Given the description of an element on the screen output the (x, y) to click on. 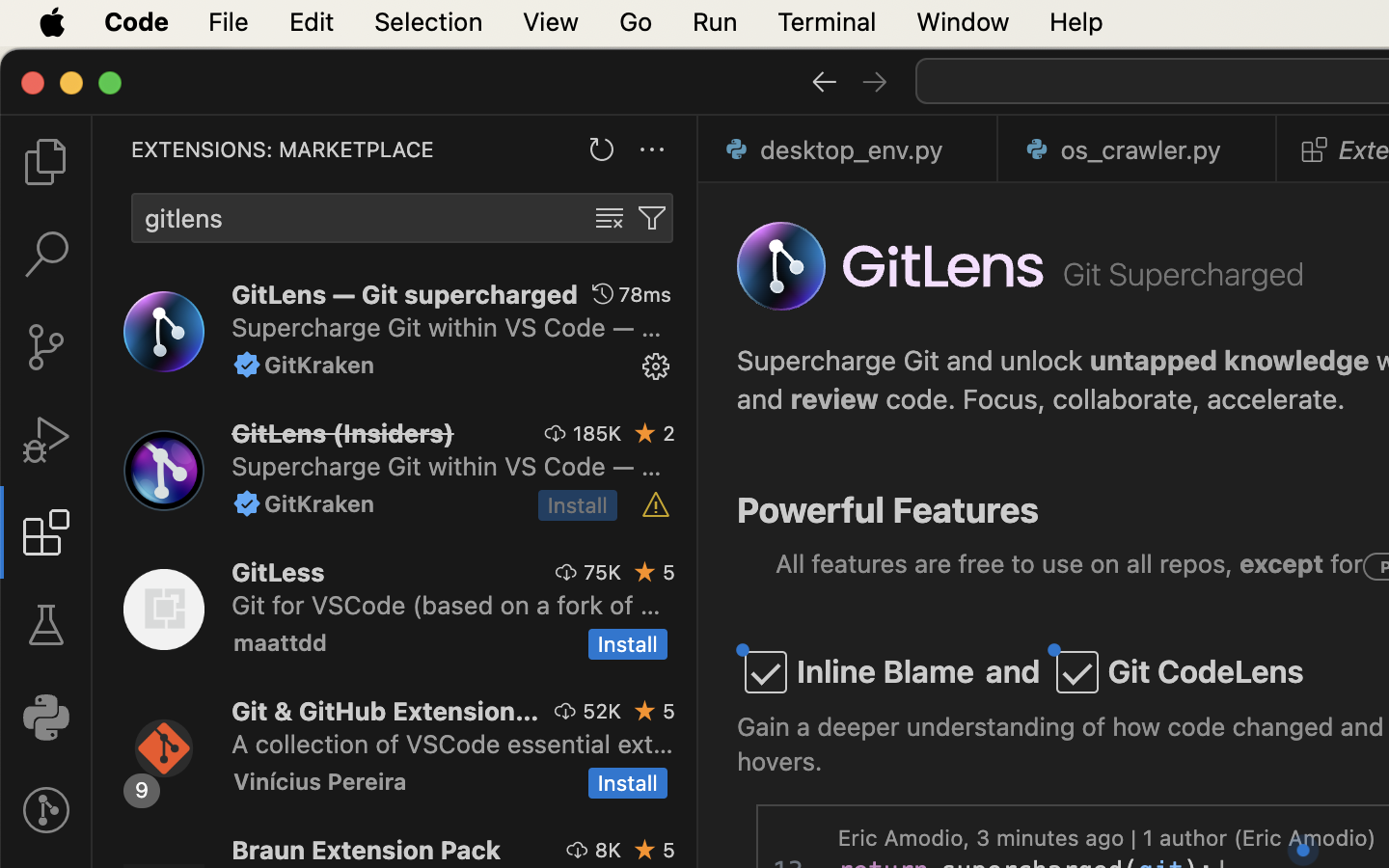
GitLens (Insiders) Element type: AXStaticText (343, 432)
8K Element type: AXStaticText (607, 849)
Git & GitHub Extension Pack Element type: AXStaticText (385, 710)
 Element type: AXGroup (46, 439)
 Element type: AXGroup (46, 809)
